Given the description of an element on the screen output the (x, y) to click on. 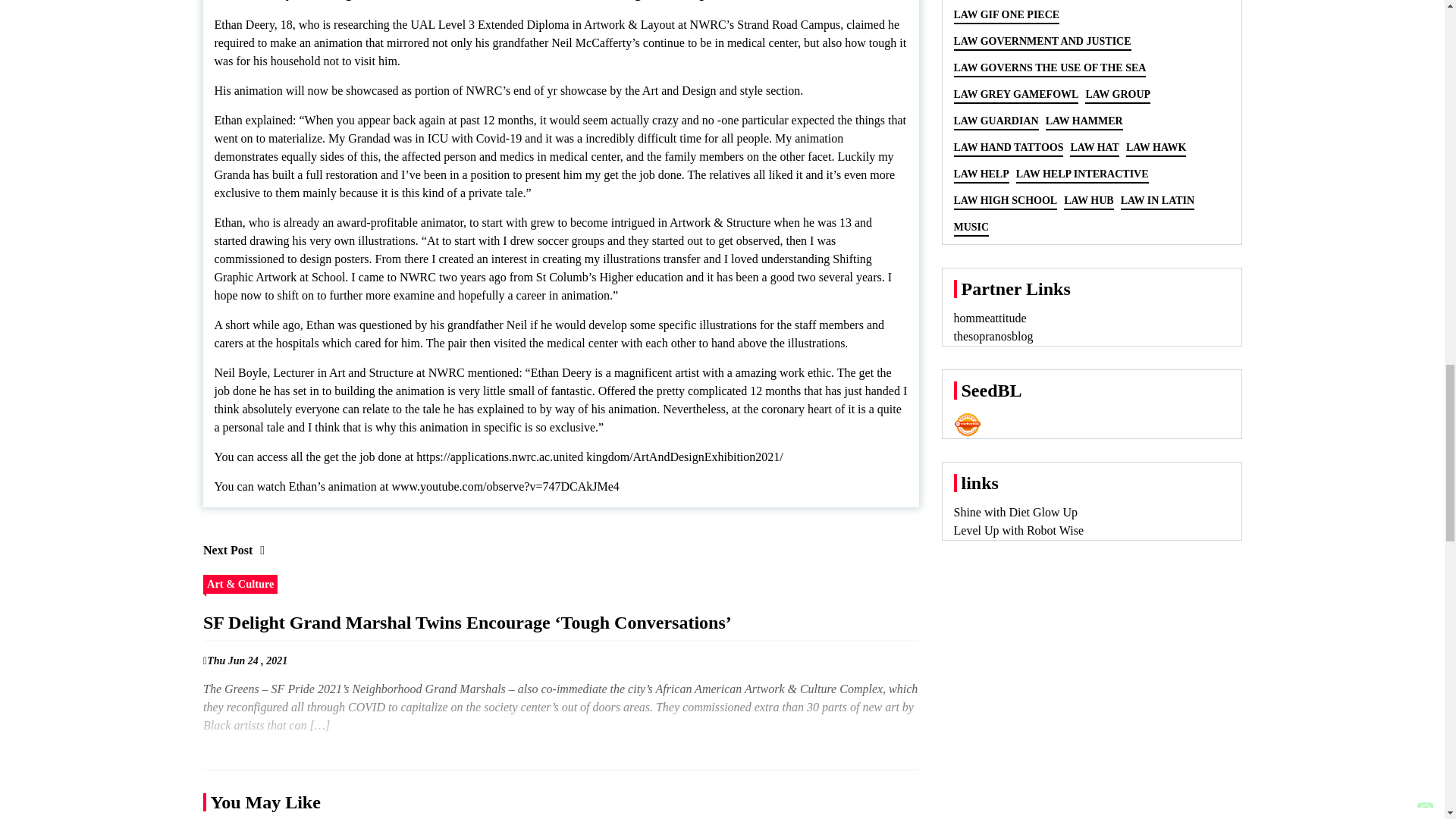
Seedbacklink (967, 424)
